Given the description of an element on the screen output the (x, y) to click on. 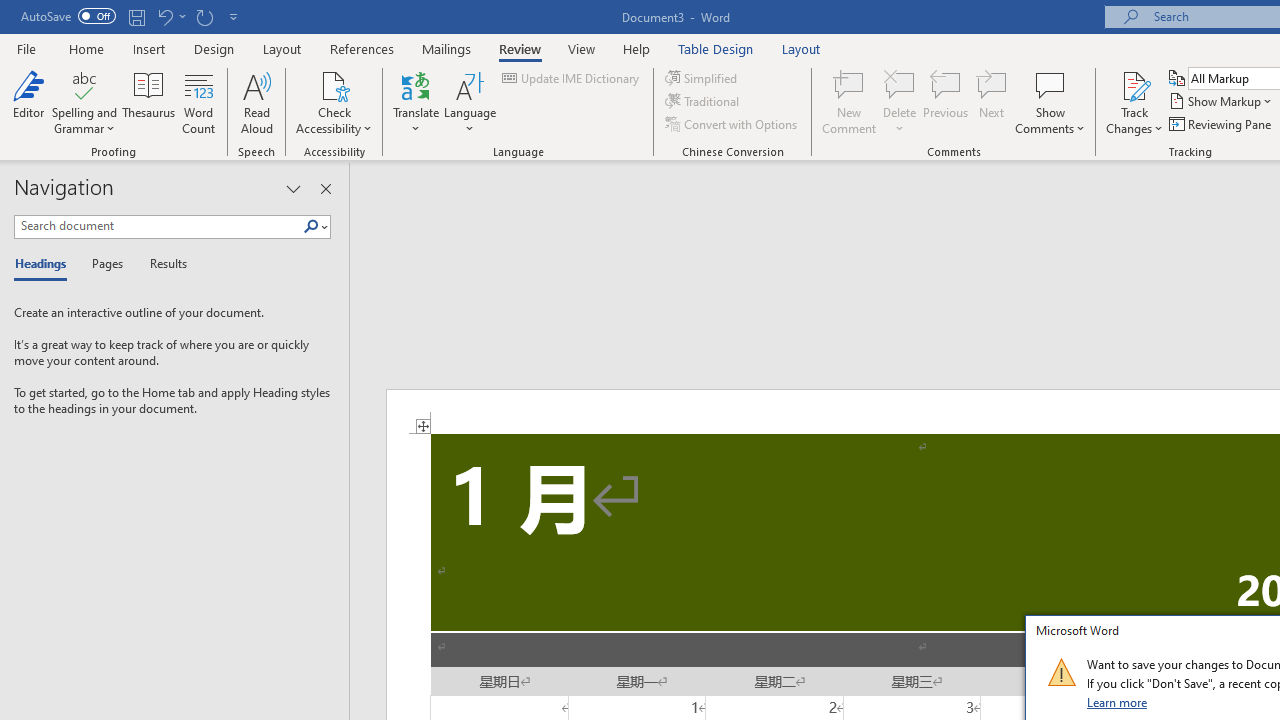
Delete (900, 102)
Check Accessibility (334, 102)
Read Aloud (256, 102)
Thesaurus... (148, 102)
Track Changes (1134, 84)
Next (991, 102)
Update IME Dictionary... (572, 78)
Reviewing Pane (1221, 124)
New Comment (849, 102)
